Given the description of an element on the screen output the (x, y) to click on. 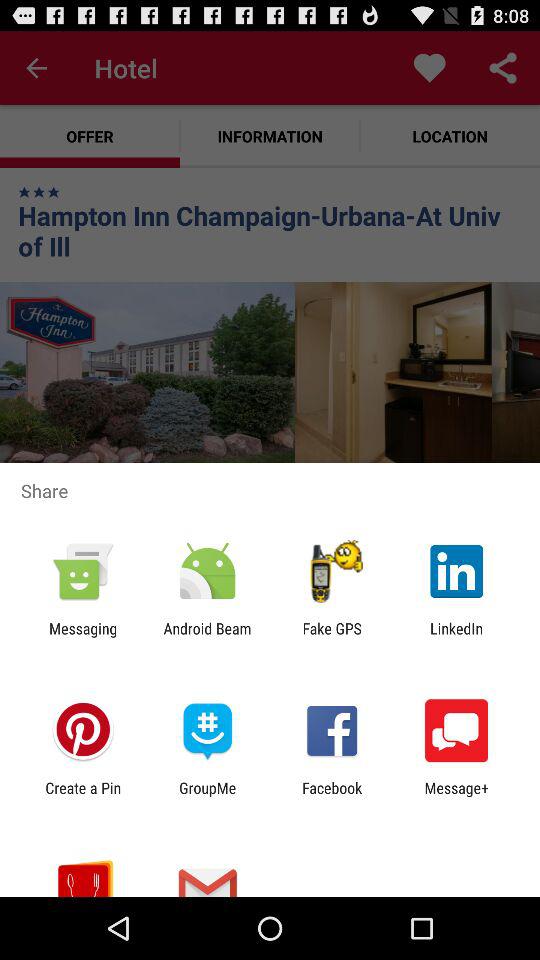
launch the groupme icon (207, 796)
